Given the description of an element on the screen output the (x, y) to click on. 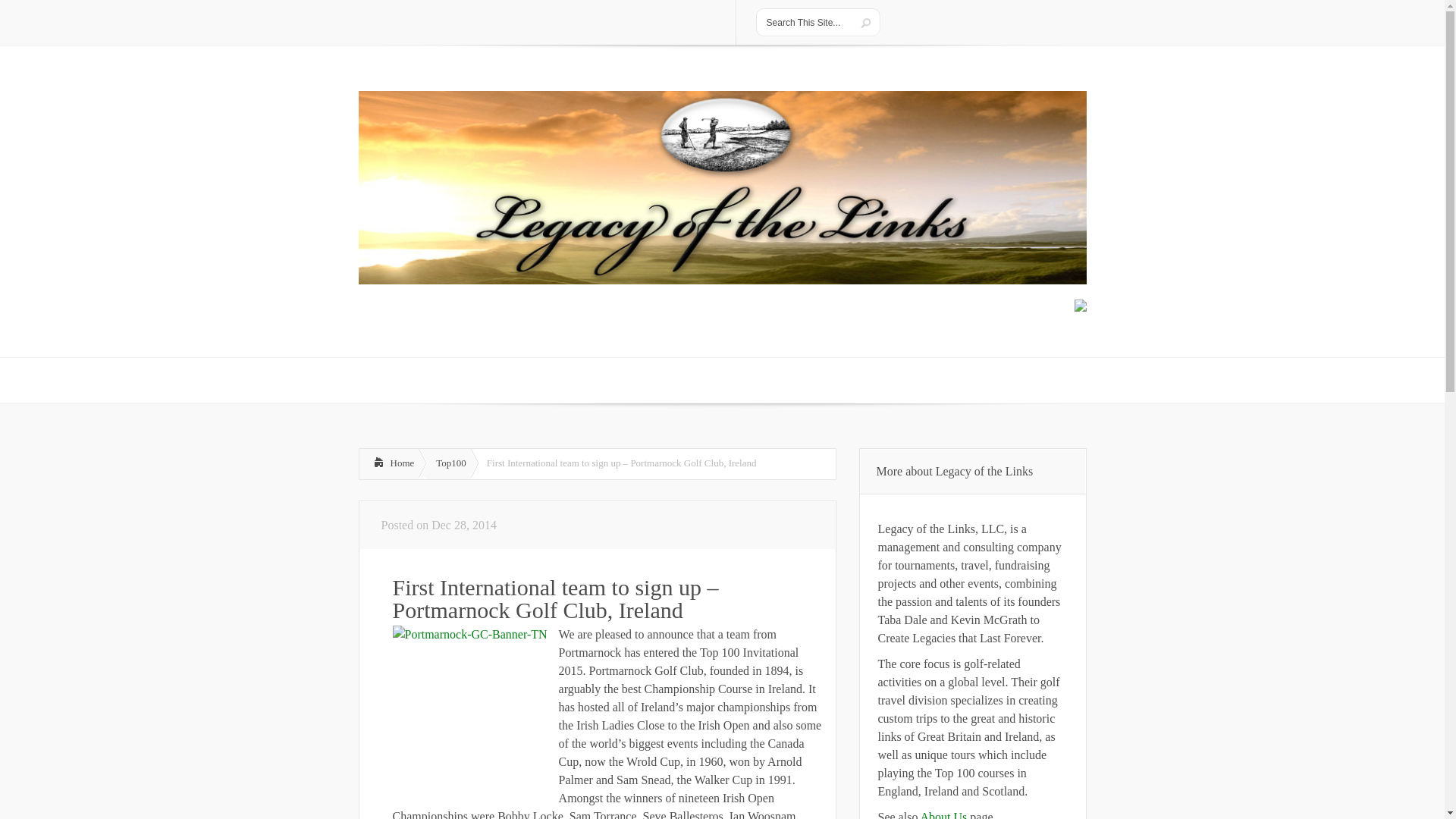
Search This Site... (805, 22)
About Us (944, 814)
Top100 (448, 463)
Home (389, 463)
